Given the description of an element on the screen output the (x, y) to click on. 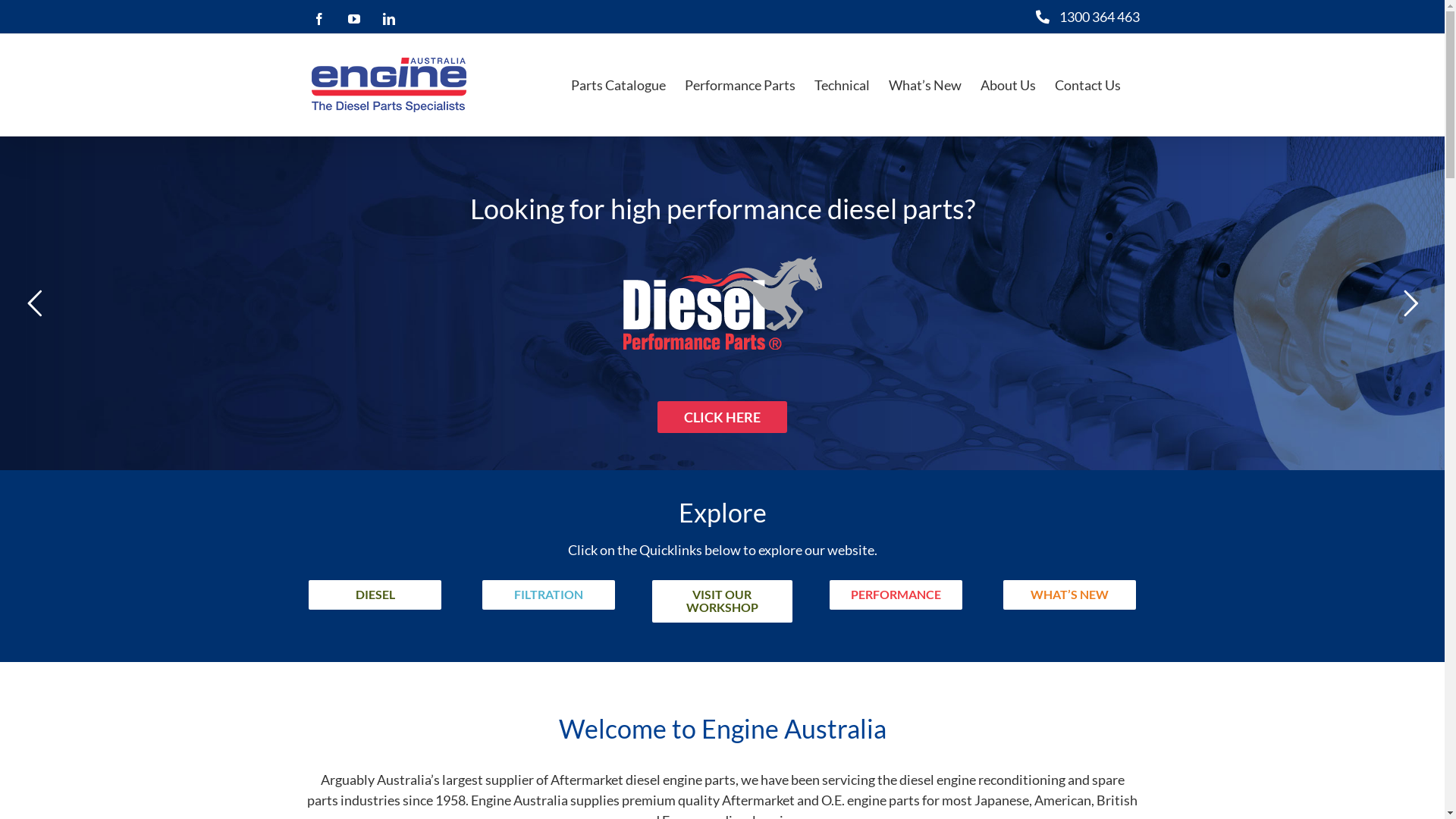
Contact Us Element type: text (1087, 84)
VISIT OUR WORKSHOP Element type: text (722, 601)
Performance Parts Element type: text (739, 84)
Parts Catalogue Element type: text (617, 84)
PERFORMANCE Element type: text (895, 594)
DIESEL Element type: text (374, 594)
Technical Element type: text (841, 84)
About Us Element type: text (1007, 84)
1300 364 463 Element type: text (1095, 16)
FILTRATION Element type: text (548, 594)
